Given the description of an element on the screen output the (x, y) to click on. 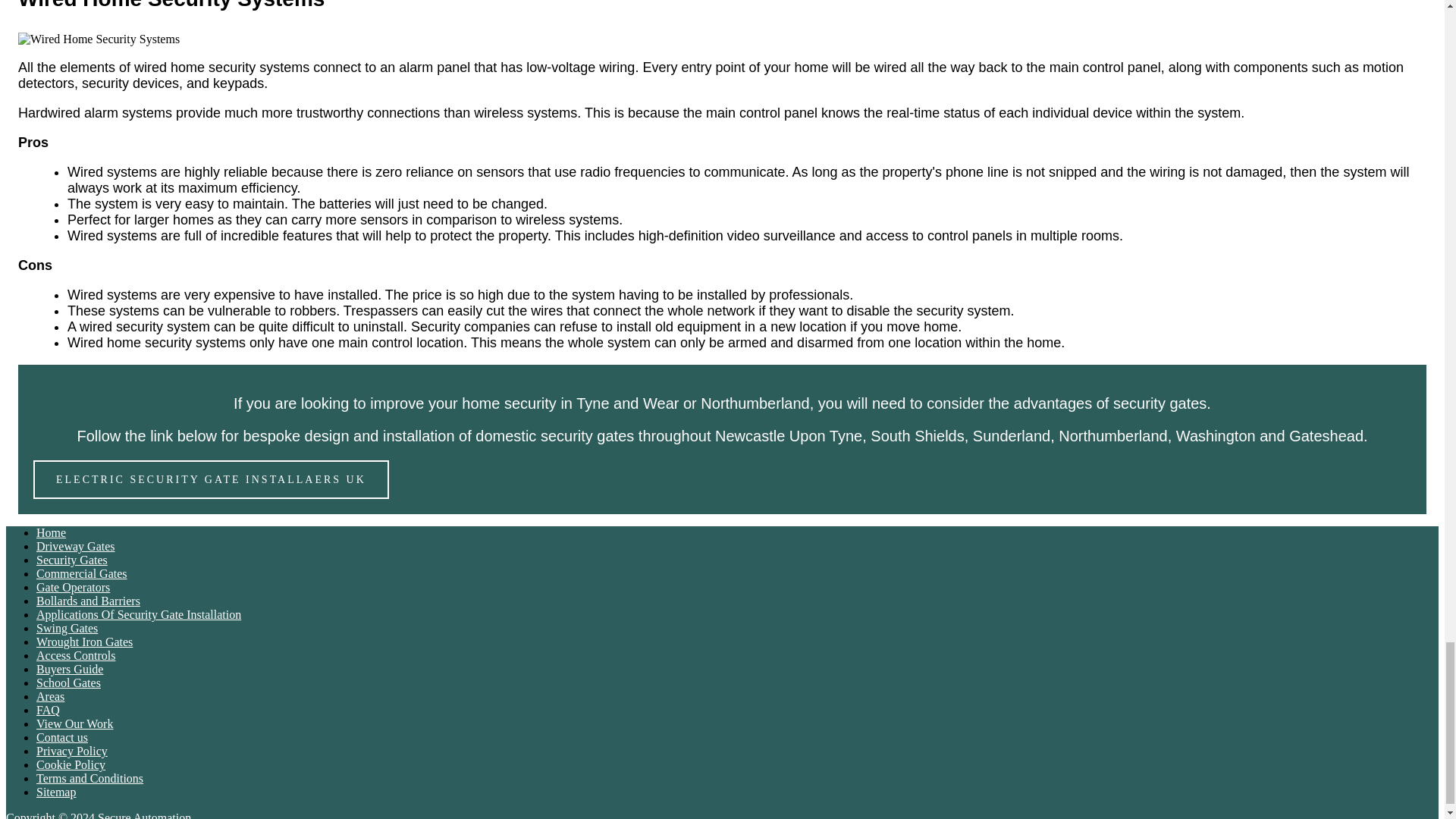
Swing Gates (66, 627)
Home (50, 532)
Applications Of Security Gate Installation (138, 614)
ELECTRIC SECURITY GATE INSTALLAERS UK (210, 479)
Commercial Gates (82, 573)
Security Gates (71, 559)
Gate Operators (73, 586)
Driveway Gates (75, 545)
Bollards and Barriers (87, 600)
